Given the description of an element on the screen output the (x, y) to click on. 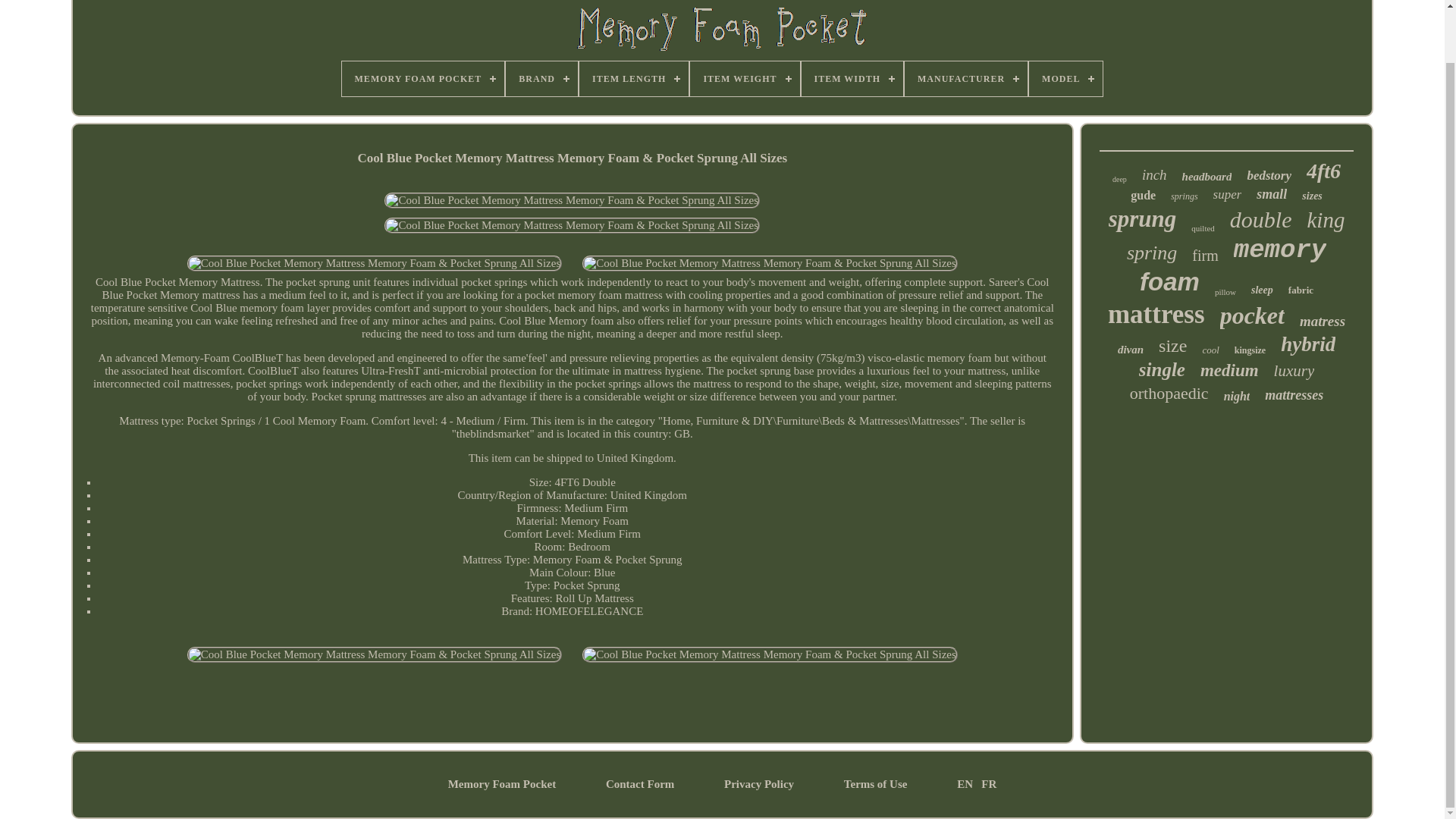
MEMORY FOAM POCKET (423, 78)
BRAND (541, 78)
ITEM LENGTH (633, 78)
